Given the description of an element on the screen output the (x, y) to click on. 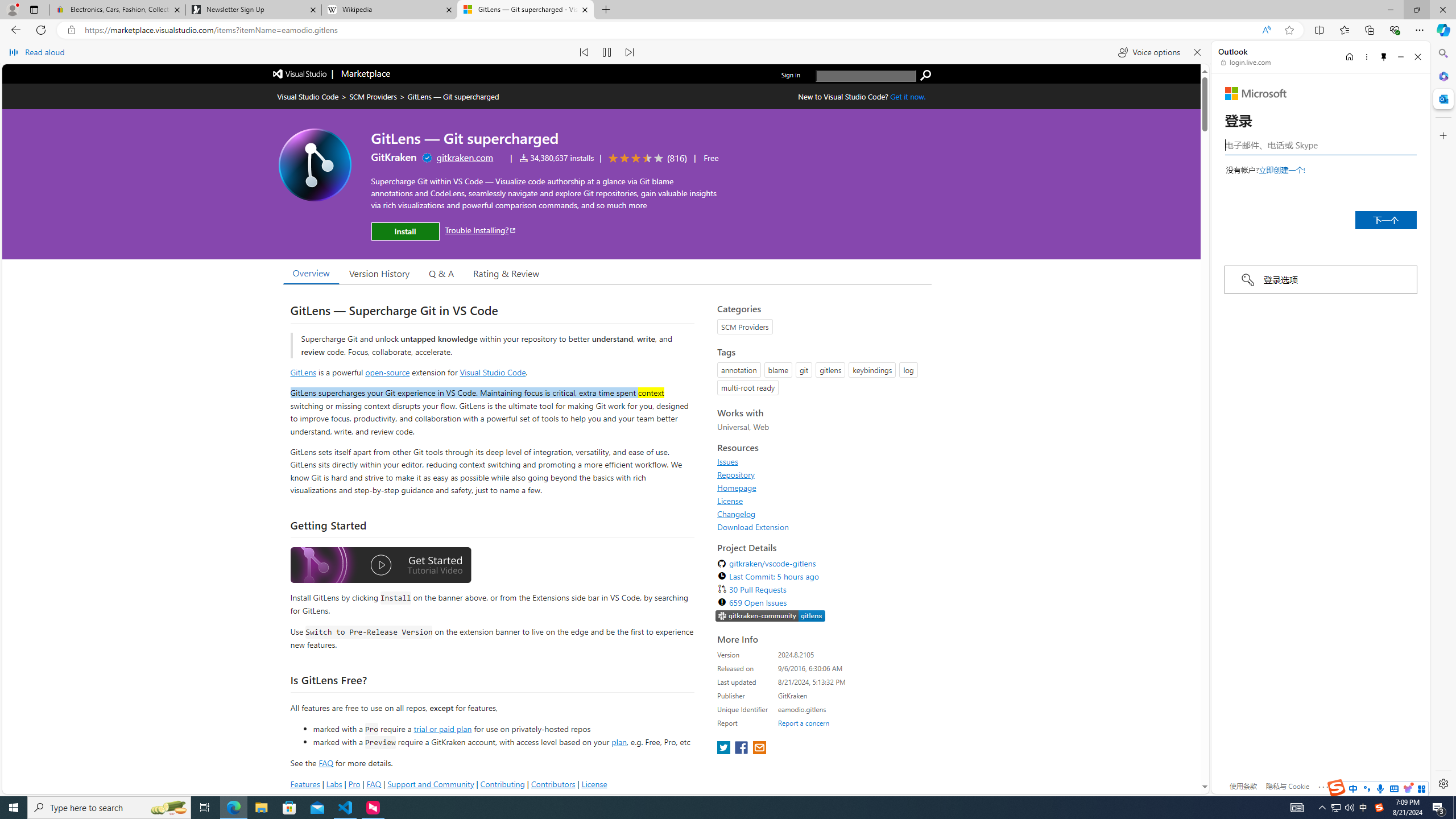
Features (304, 783)
search (866, 75)
https://slack.gitkraken.com// (769, 617)
Contributors (552, 783)
trial or paid plan (442, 728)
Newsletter Sign Up (253, 9)
